Given the description of an element on the screen output the (x, y) to click on. 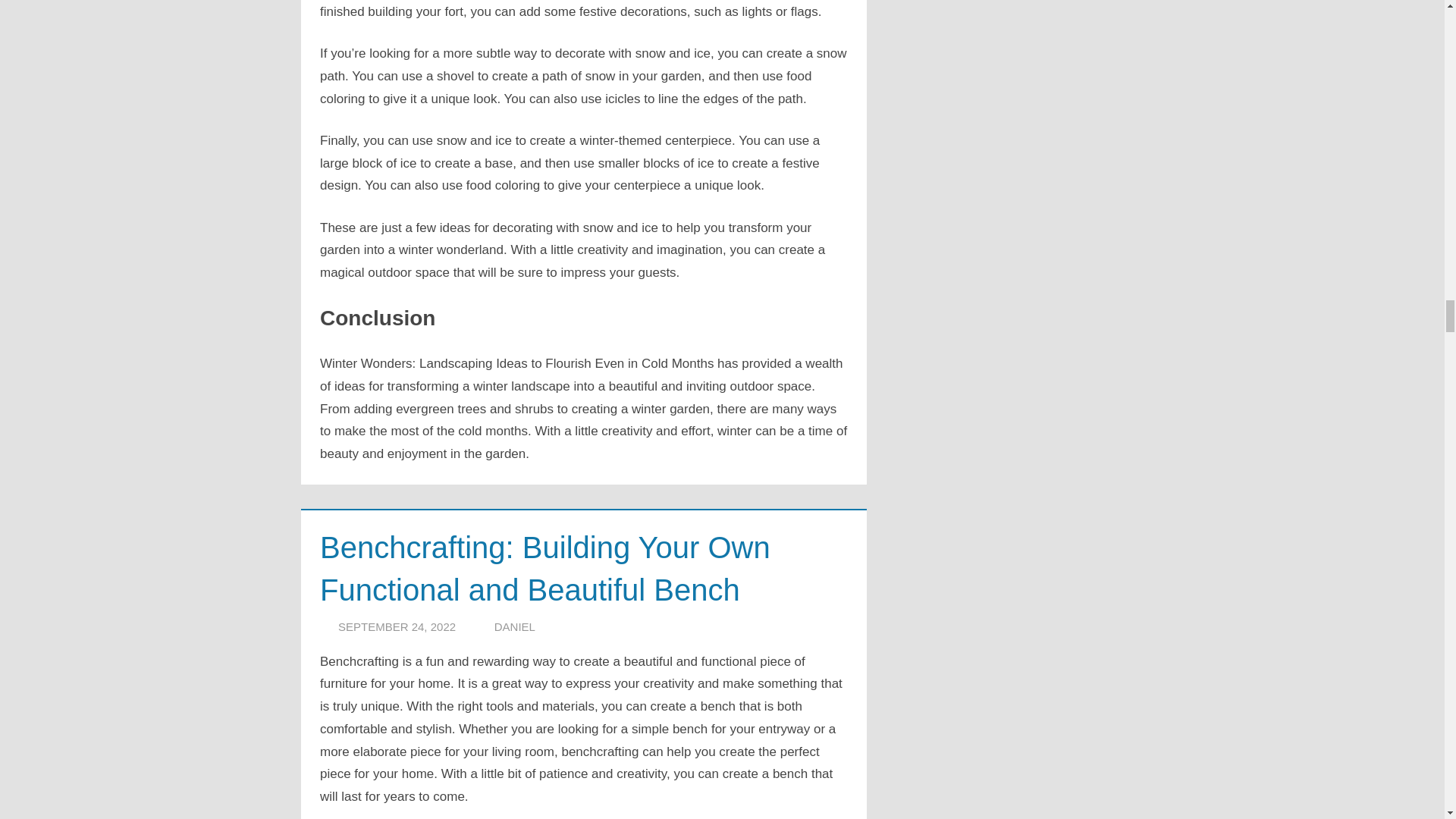
DANIEL (515, 626)
View all posts by Daniel (515, 626)
SEPTEMBER 24, 2022 (396, 626)
2:32 am (396, 626)
